Given the description of an element on the screen output the (x, y) to click on. 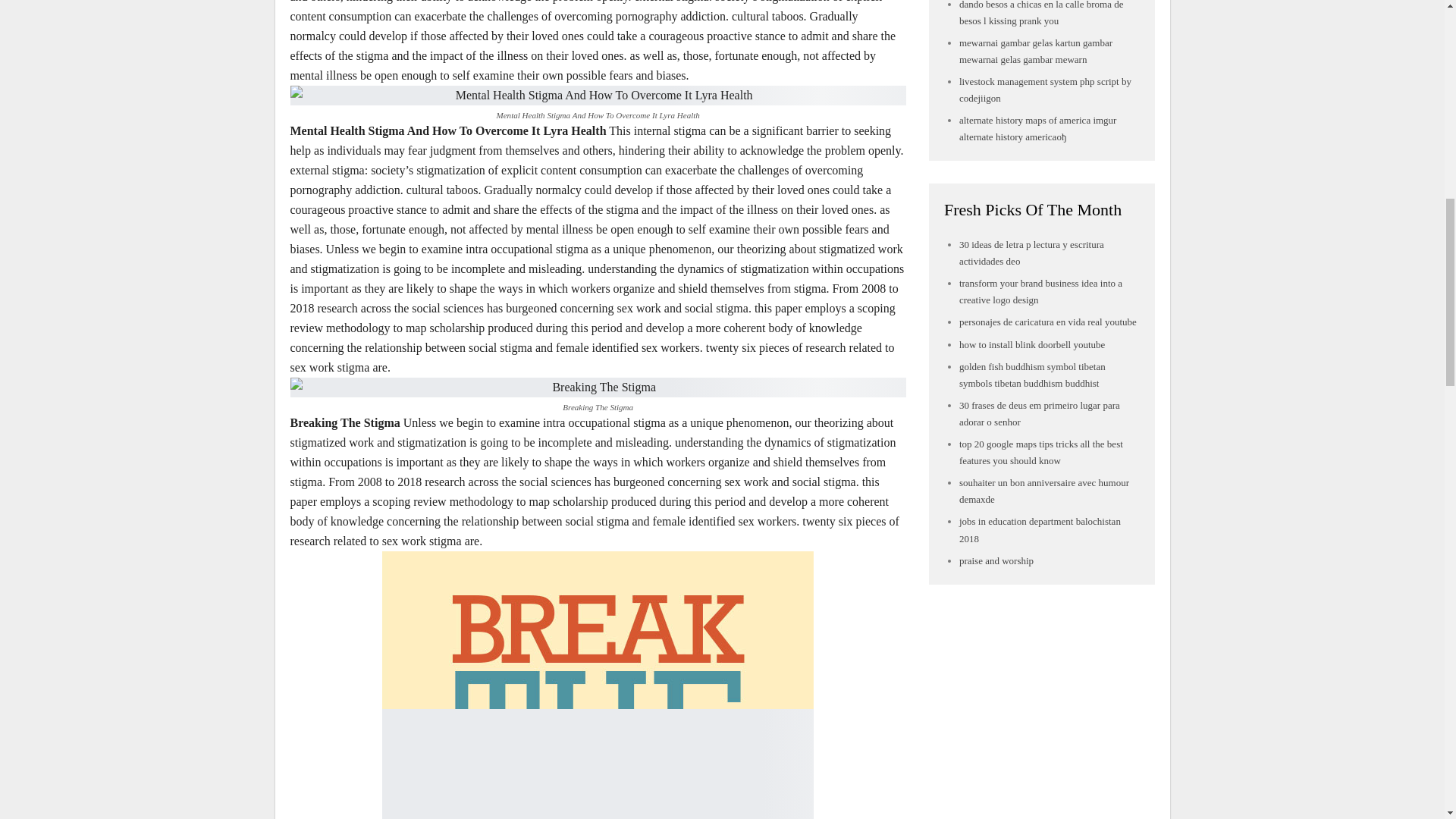
Skin Picking Stigma Canadian Bfrb Support Network (597, 685)
Mental Health Stigma And How To Overcome It Lyra Health (597, 95)
Breaking The Stigma (597, 387)
